Given the description of an element on the screen output the (x, y) to click on. 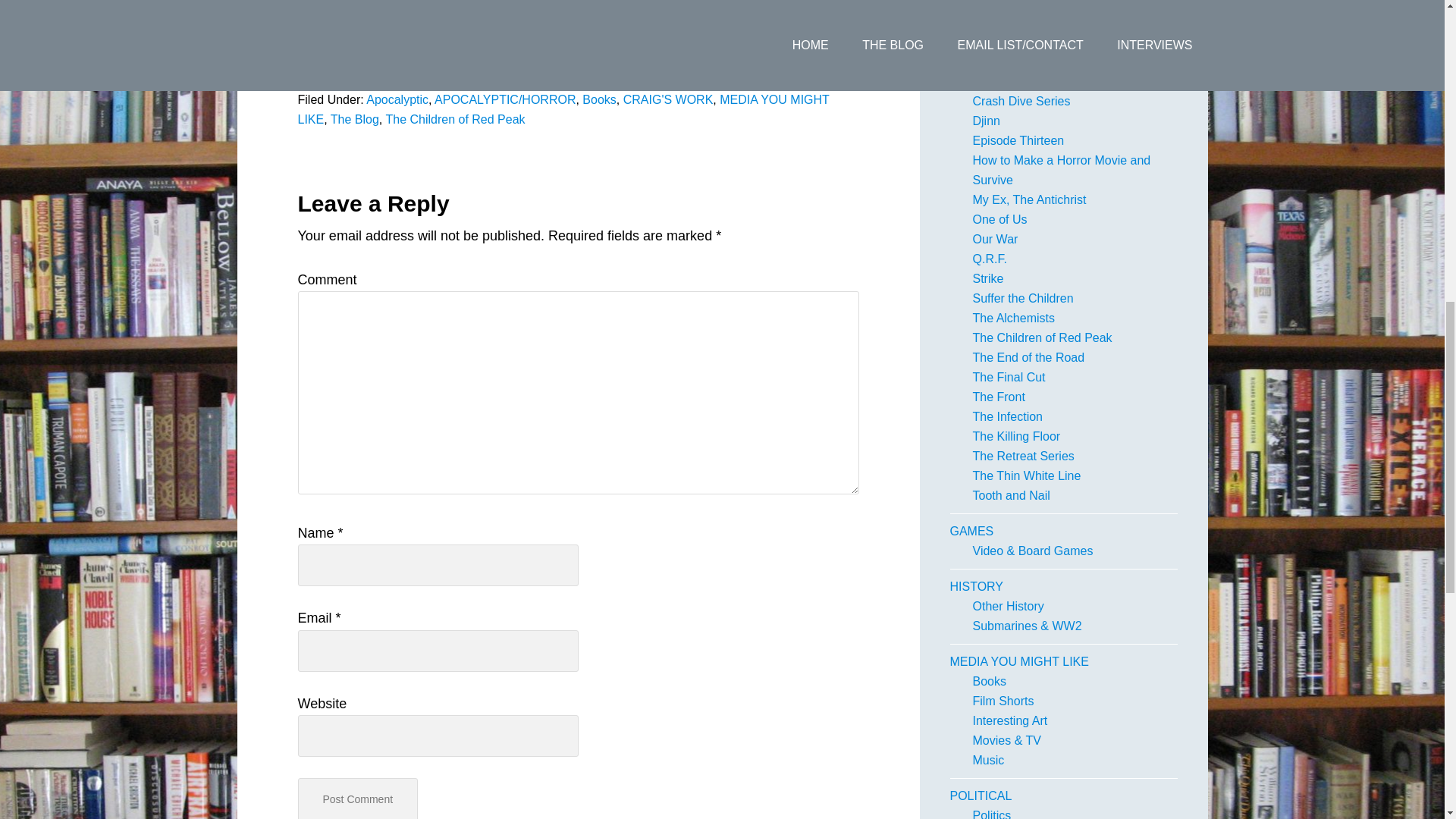
MEDIA YOU MIGHT LIKE (562, 109)
Books (598, 99)
Post Comment (357, 798)
Aviator Series (1009, 81)
Comic Books (1007, 6)
Post Comment (357, 798)
The Blog (354, 119)
Click here (327, 57)
CRAIG'S WORK (994, 42)
The Children of Red Peak (454, 119)
